Given the description of an element on the screen output the (x, y) to click on. 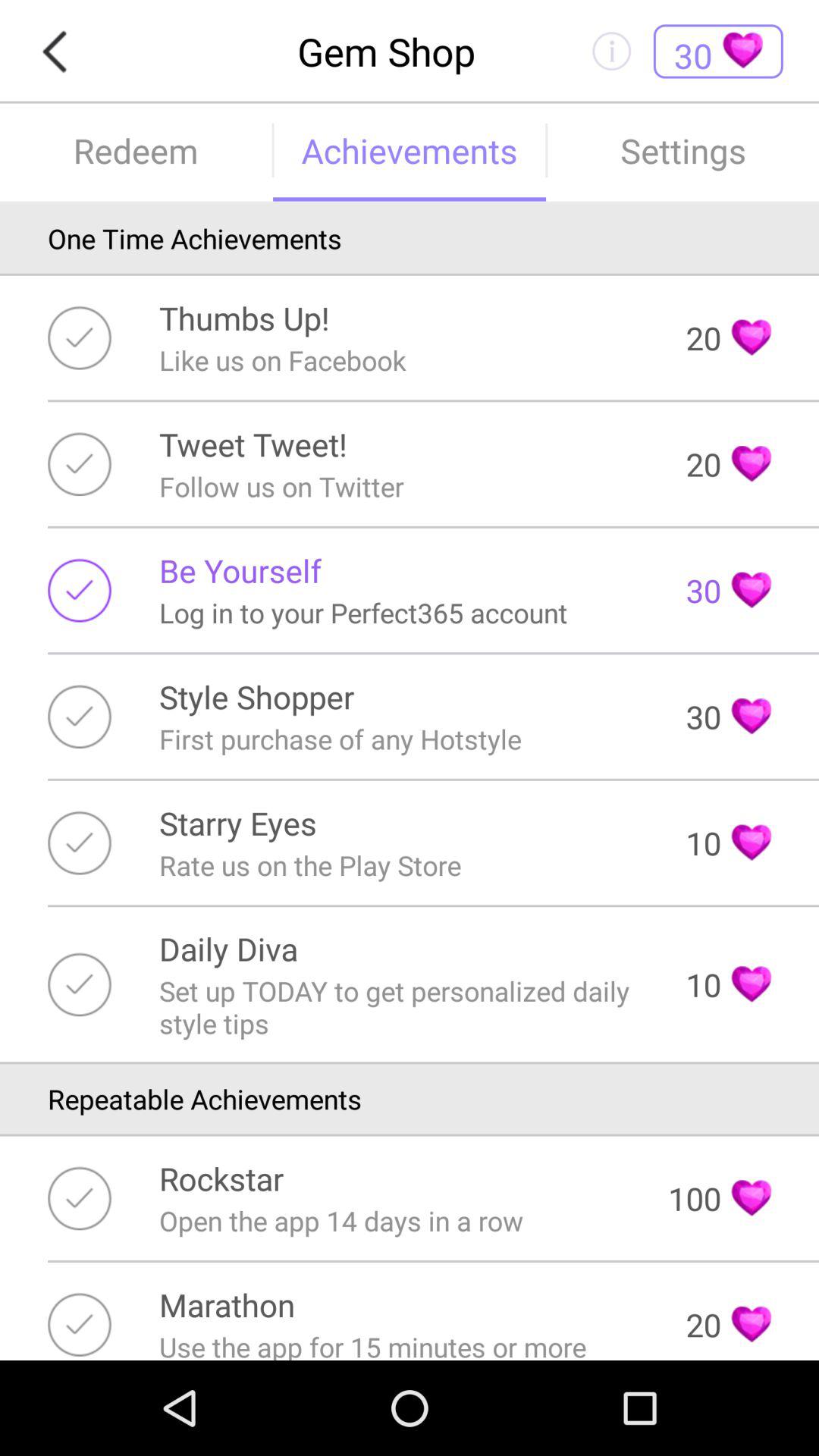
click item to the left of the 30 (240, 570)
